Given the description of an element on the screen output the (x, y) to click on. 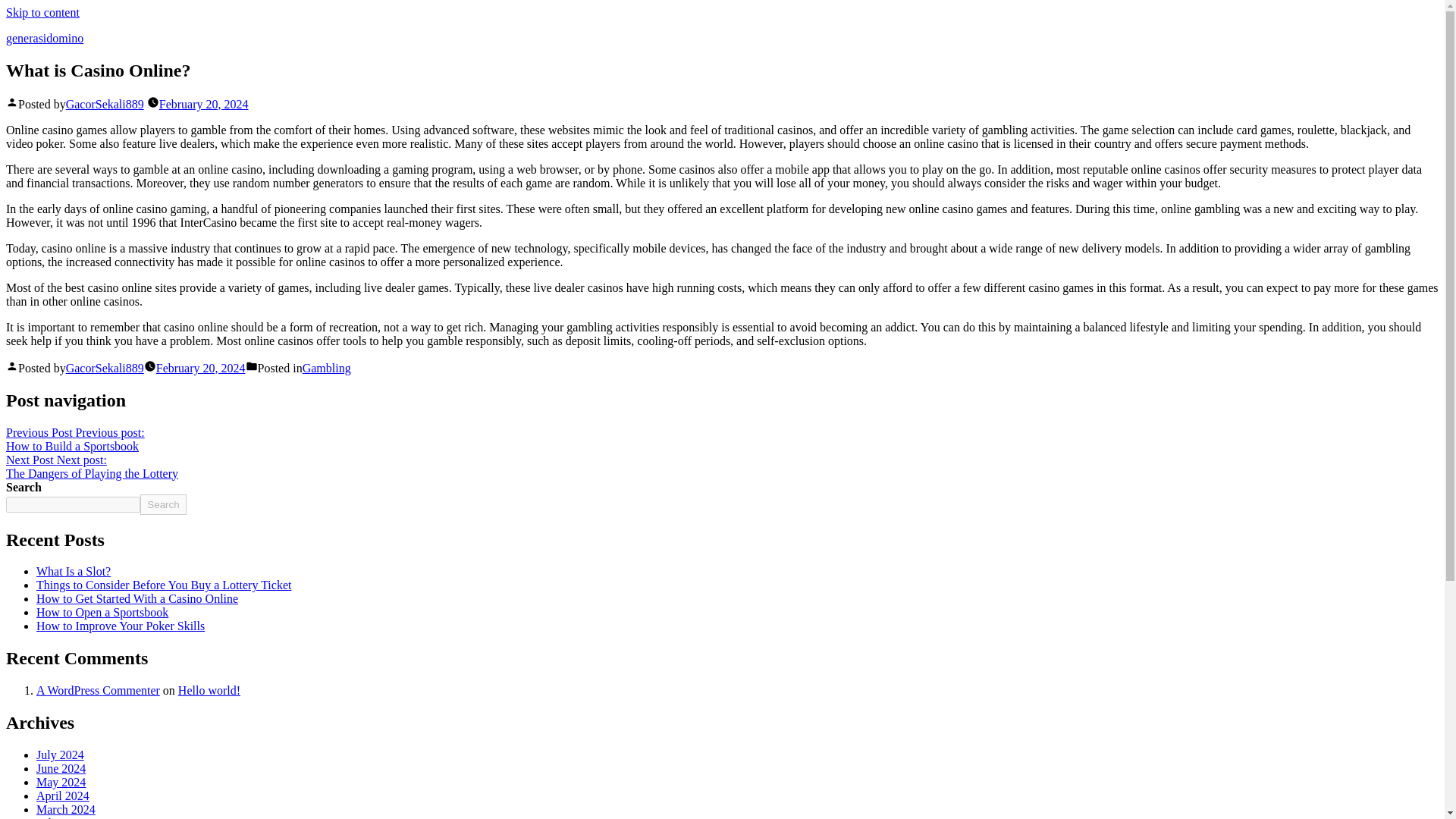
Things to Consider Before You Buy a Lottery Ticket (163, 584)
A WordPress Commenter (98, 689)
February 20, 2024 (200, 367)
How to Open a Sportsbook (102, 612)
Hello world! (208, 689)
Gambling (326, 367)
generasidomino (43, 38)
GacorSekali889 (104, 103)
June 2024 (74, 438)
May 2024 (60, 768)
February 20, 2024 (60, 781)
How to Get Started With a Casino Online (203, 103)
What Is a Slot? (137, 598)
Search (73, 571)
